Given the description of an element on the screen output the (x, y) to click on. 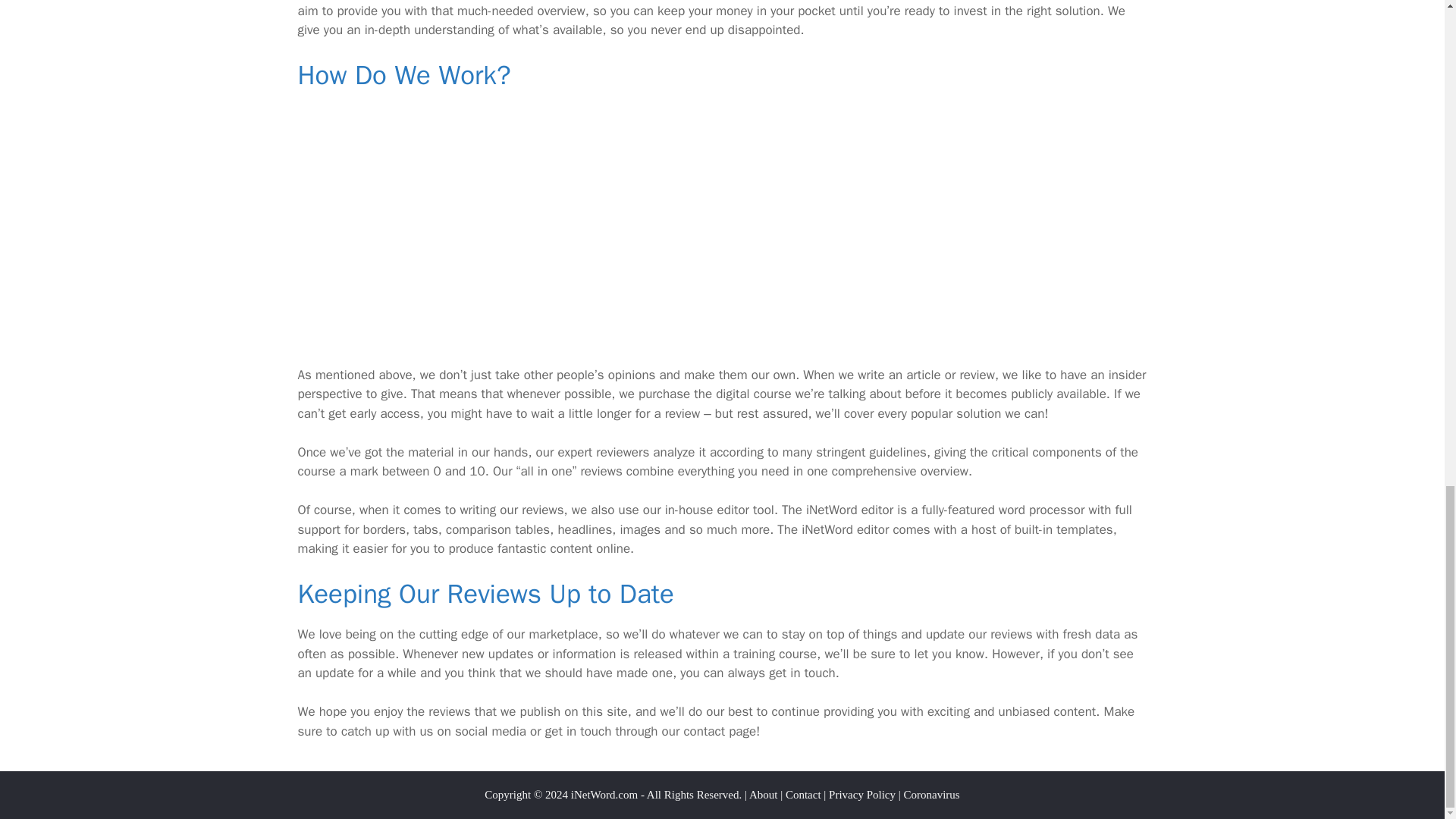
Contact (803, 794)
Scroll back to top (1406, 331)
About (763, 794)
Privacy Policy (861, 794)
Coronavirus (931, 794)
